Given the description of an element on the screen output the (x, y) to click on. 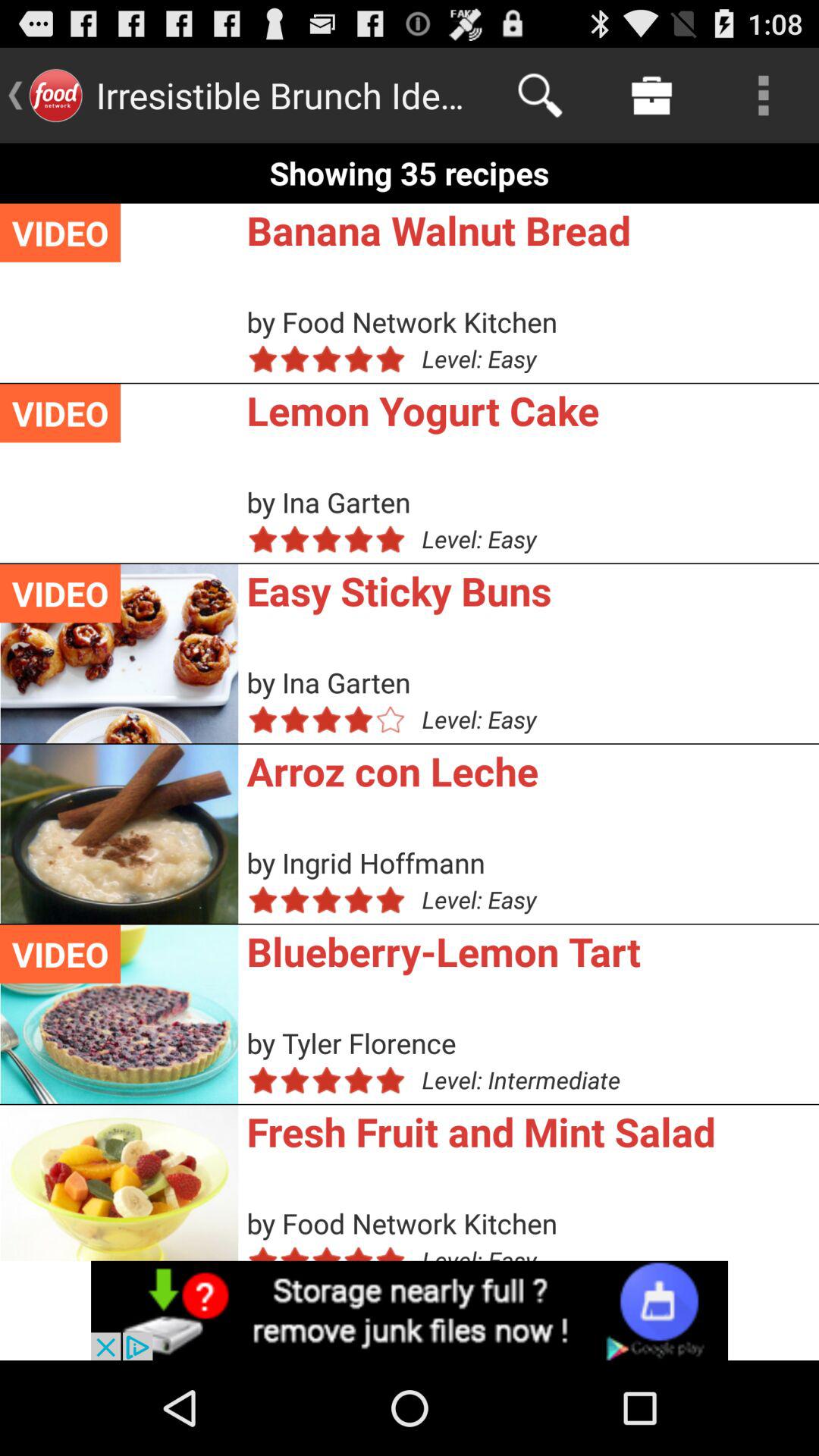
select the add image (409, 1310)
